Given the description of an element on the screen output the (x, y) to click on. 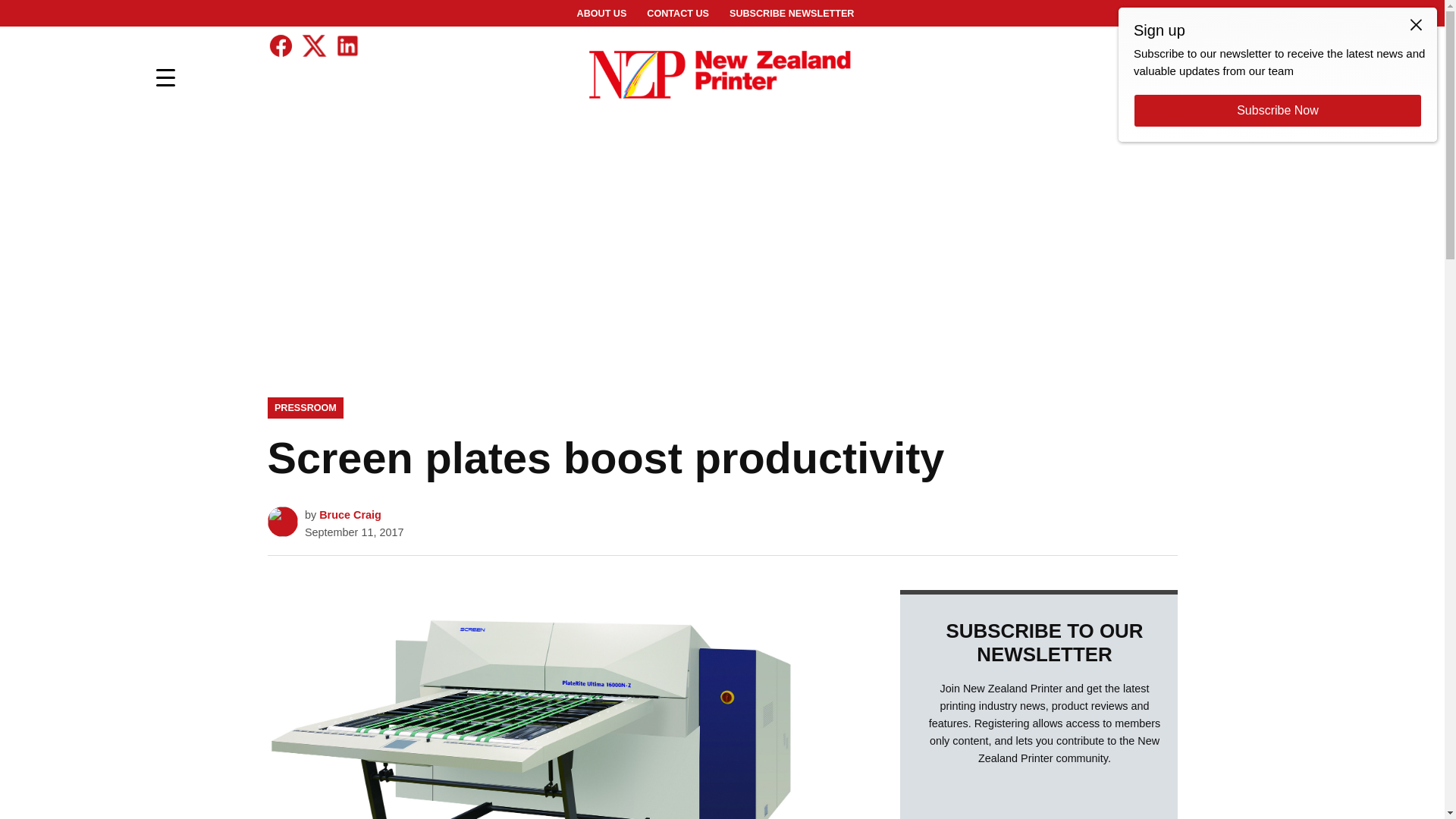
Bruce Craig (349, 514)
Facebook (280, 45)
New Zealand Printer (1026, 85)
Linkedin (346, 45)
Form 0 (1038, 798)
ABOUT US (601, 13)
SUBSCRIBE NEWSLETTER (791, 13)
Popup CTA (1277, 74)
CONTACT US (678, 13)
PRESSROOM (304, 407)
Twitter (312, 45)
